Given the description of an element on the screen output the (x, y) to click on. 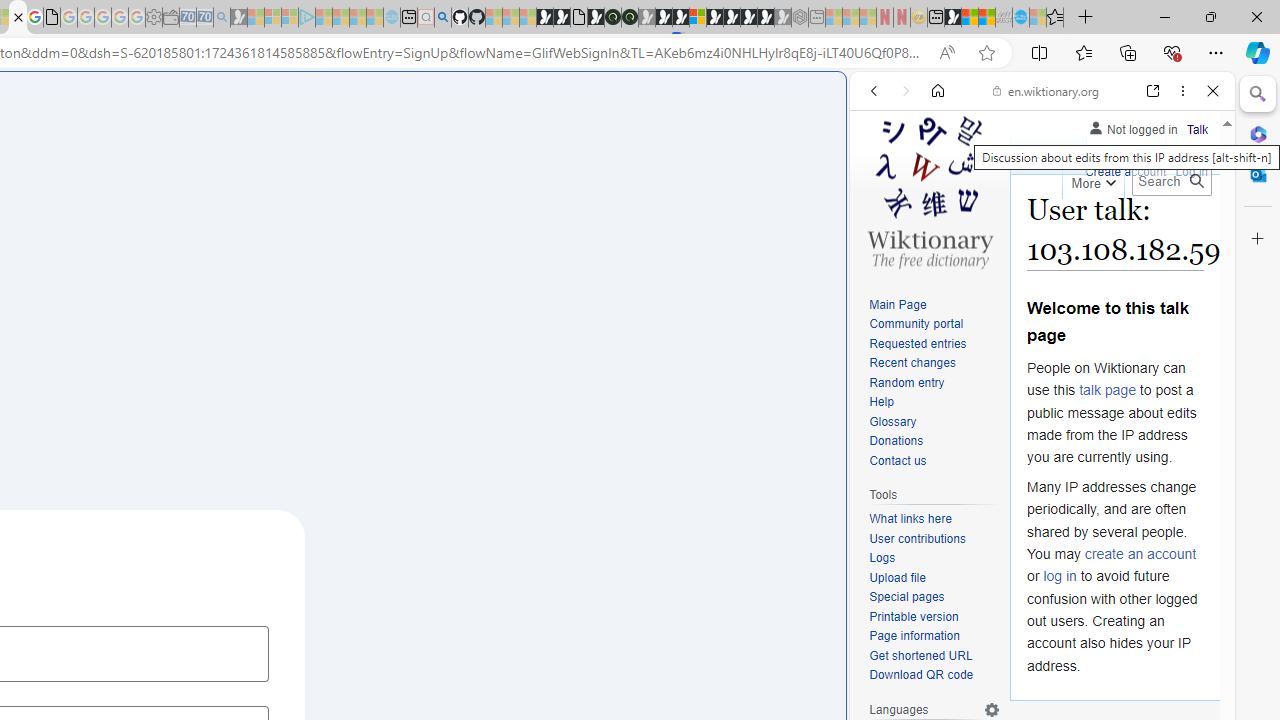
Sign in to your account (697, 17)
Play Zoo Boom in your browser | Games from Microsoft Start (561, 17)
Community portal (916, 323)
User contributions (917, 538)
Earth has six continents not seven, radical new study claims (986, 17)
Donations (934, 442)
Special pages (906, 596)
